Given the description of an element on the screen output the (x, y) to click on. 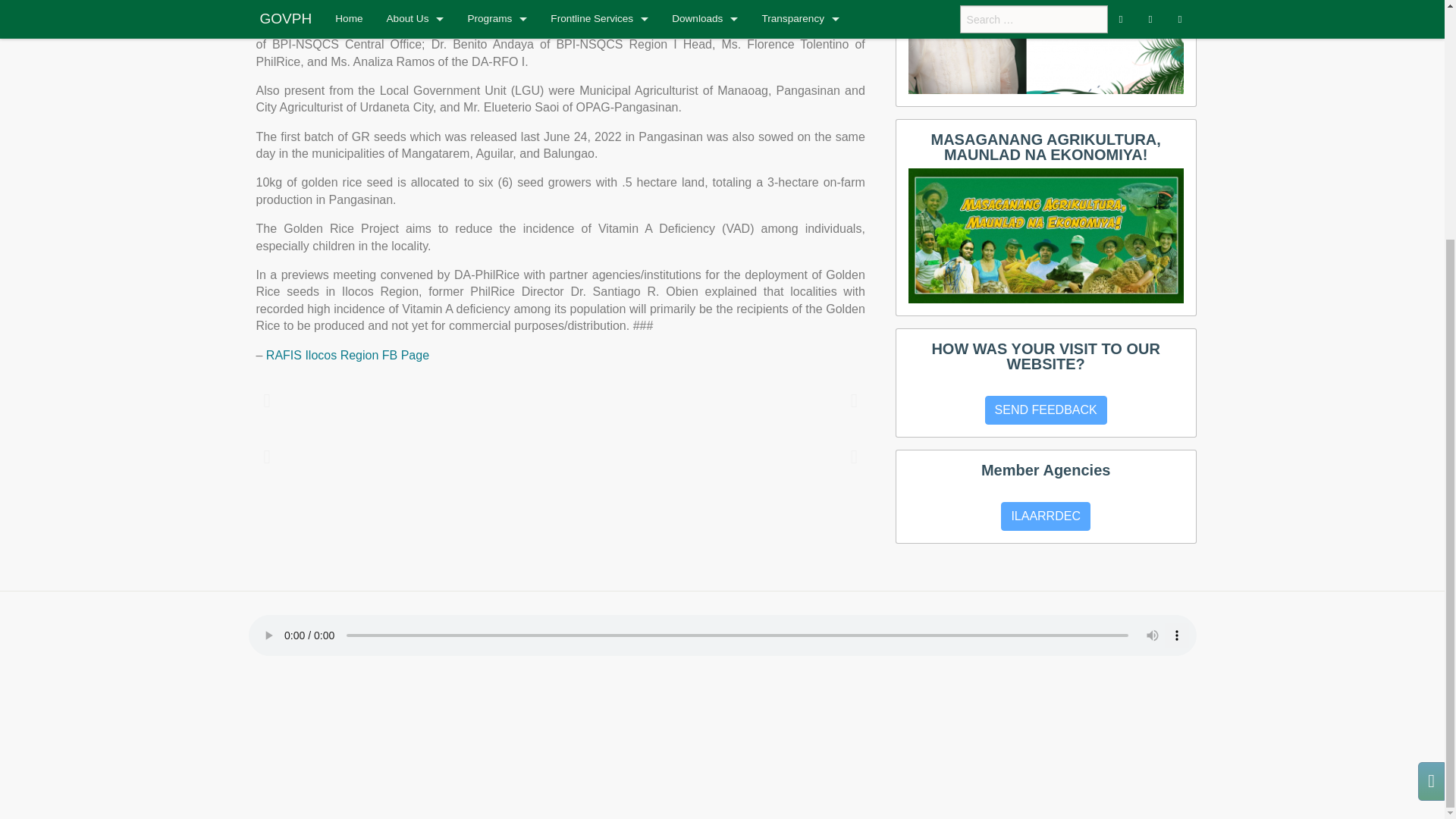
TRANSFORMING PHILIPPINE AGRICULTURE (1045, 235)
Secretary of DA (1045, 47)
